Given the description of an element on the screen output the (x, y) to click on. 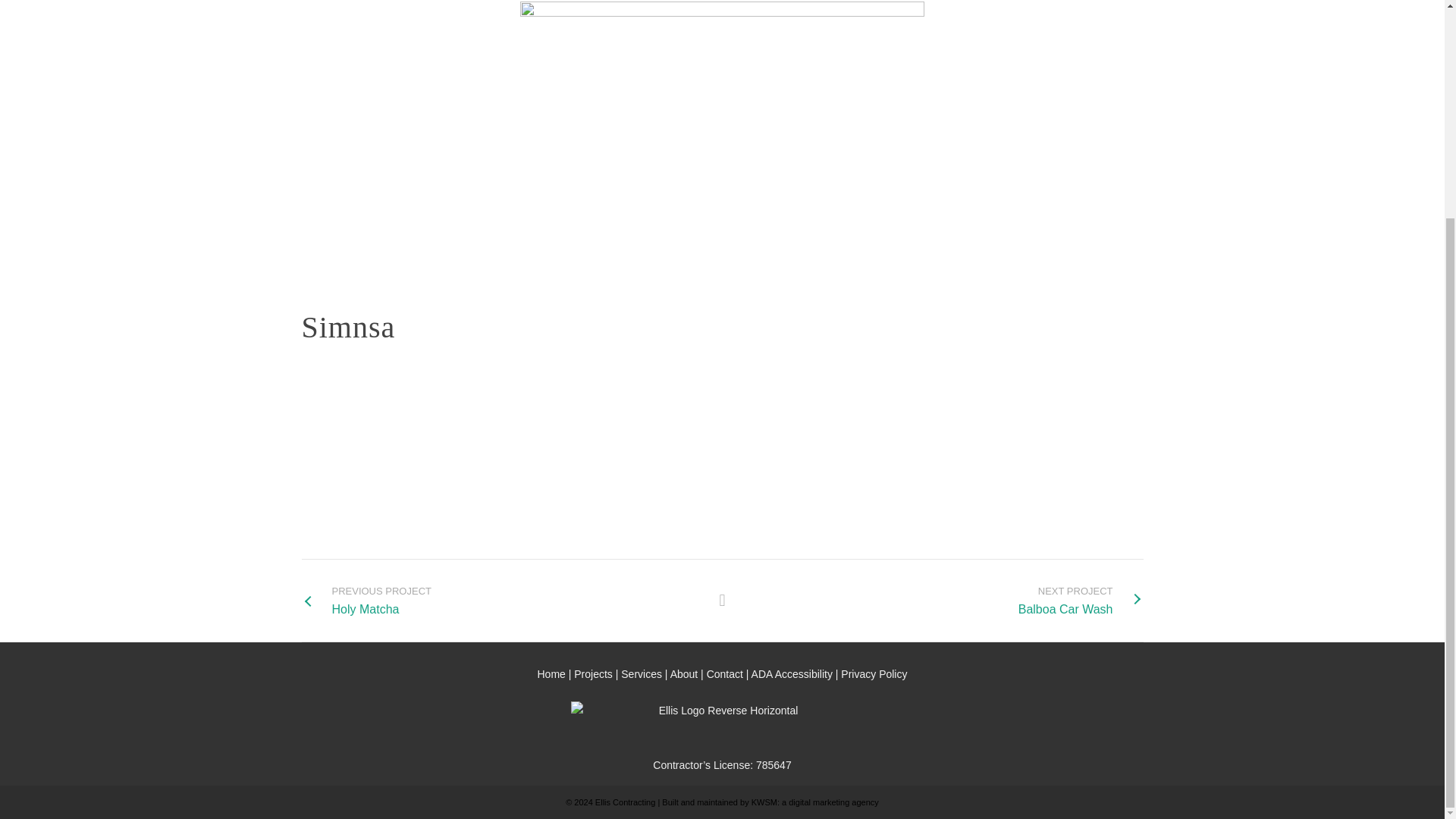
Services (641, 674)
Privacy Policy (874, 674)
Projects (592, 674)
Contact (1079, 600)
Home (724, 674)
ADA Accessibility (550, 674)
KWSM: a digital marketing agency (791, 674)
About (815, 801)
